Given the description of an element on the screen output the (x, y) to click on. 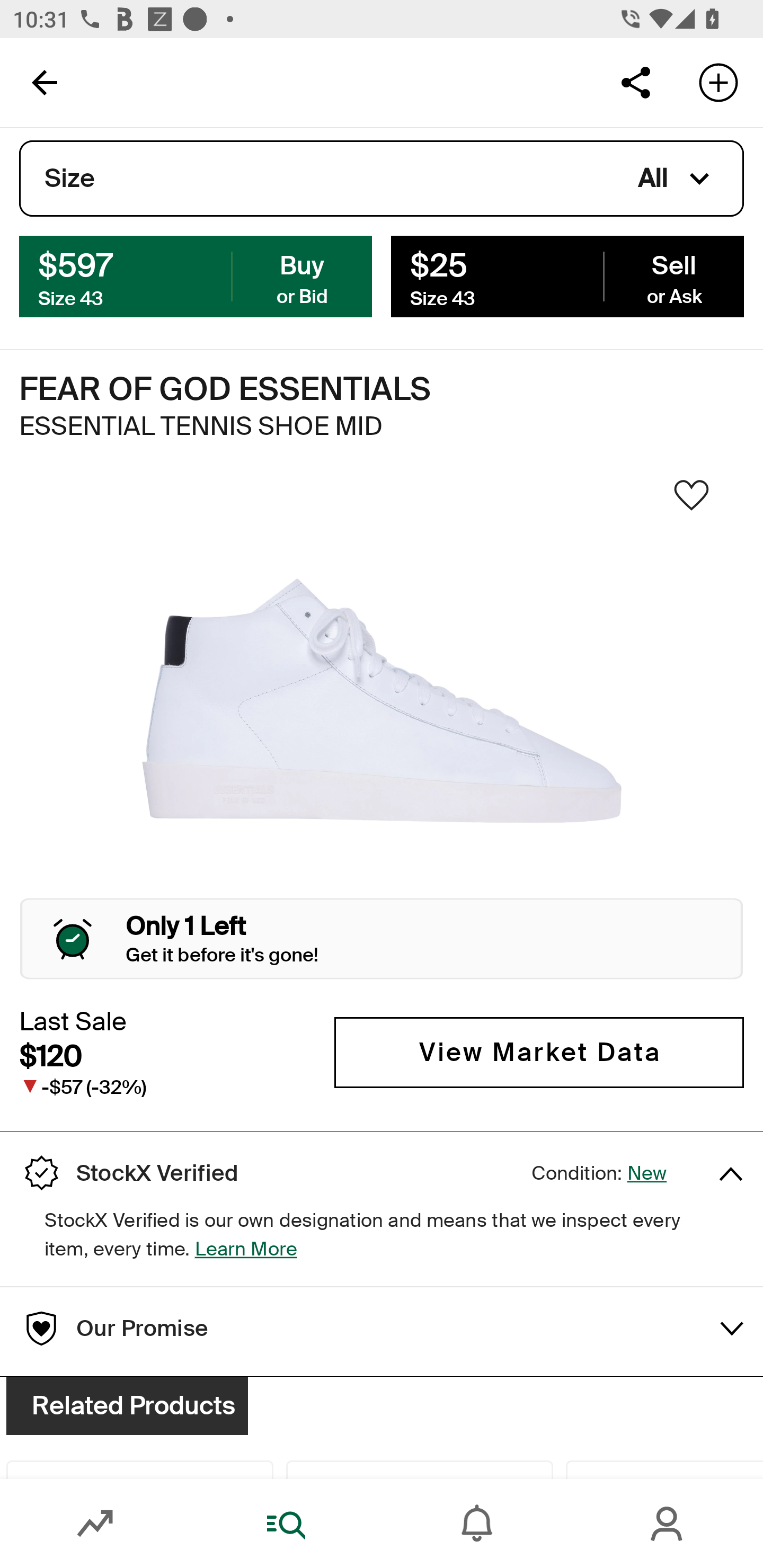
Share (635, 81)
Size All (381, 178)
$597 Buy Size 43 or Bid (195, 275)
$25 Sell Size 43 or Ask (566, 275)
Sneaker Image (381, 699)
View Market Data (538, 1052)
Market (95, 1523)
Inbox (476, 1523)
Account (667, 1523)
